Given the description of an element on the screen output the (x, y) to click on. 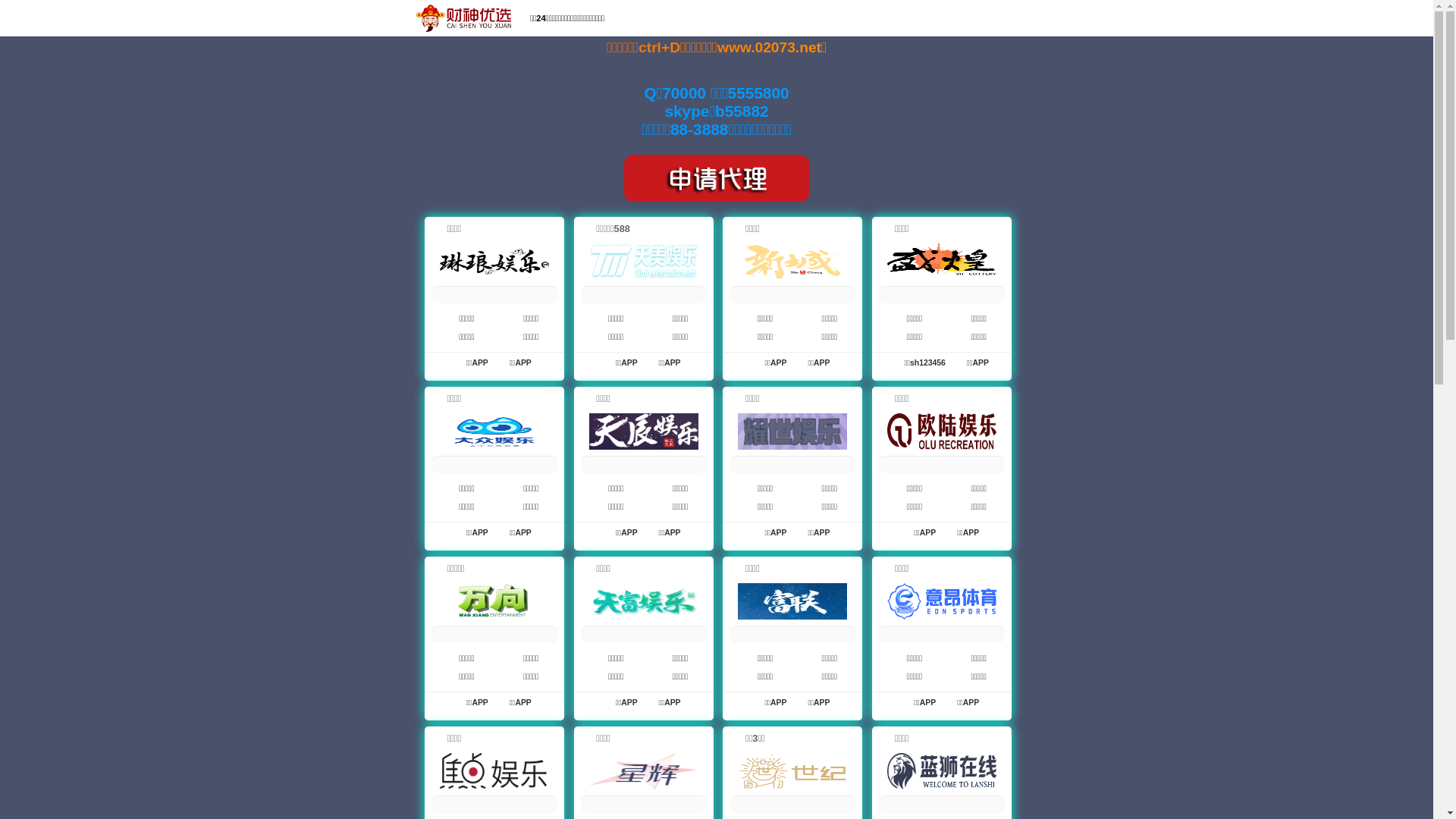
QQ Element type: text (1117, 19)
E-mail Element type: text (1162, 19)
